Given the description of an element on the screen output the (x, y) to click on. 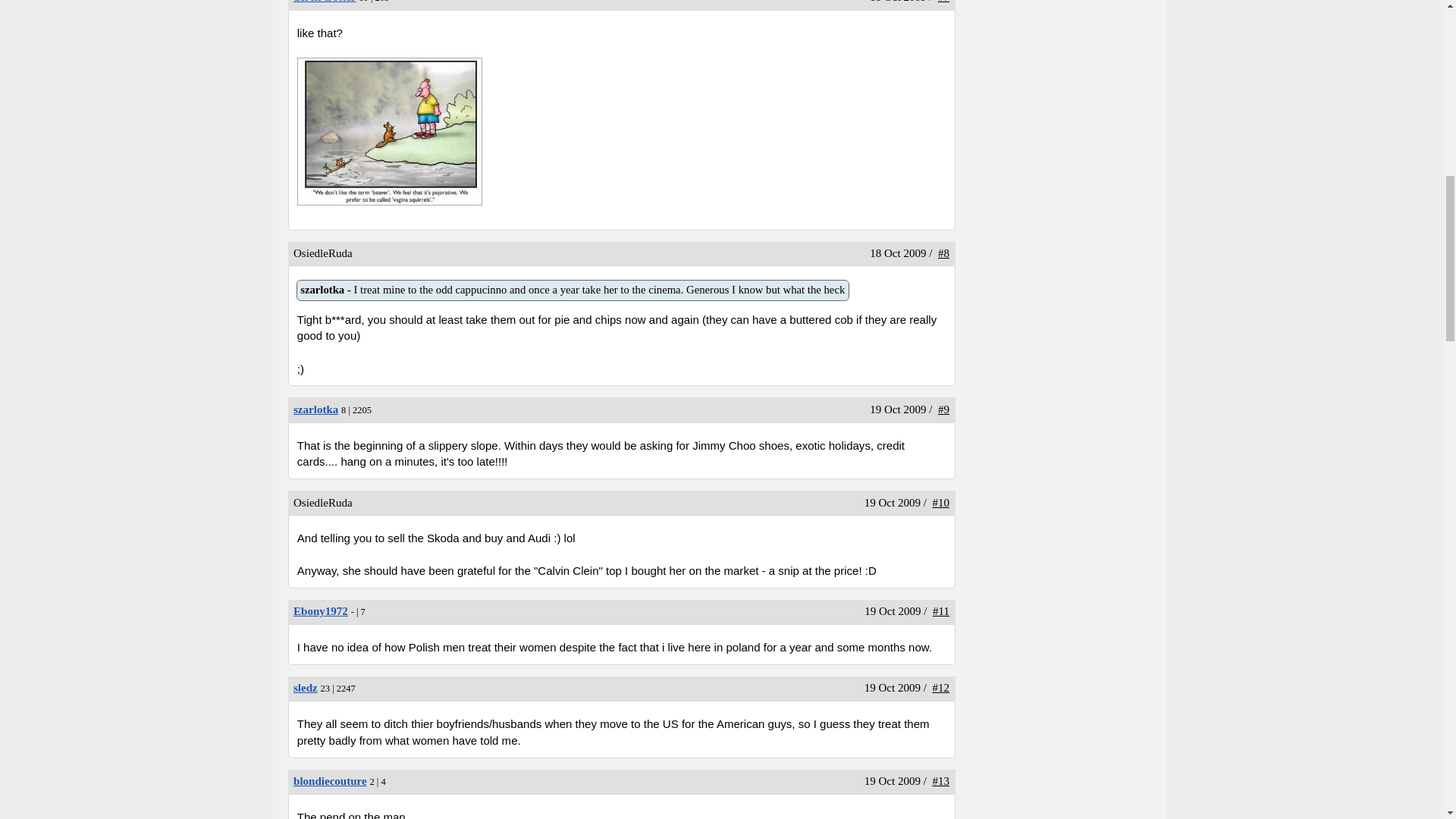
sledz (325, 1)
szarlotka (305, 687)
derek trotter (315, 409)
szarlotka (325, 1)
Ebony1972 (572, 290)
blondiecouture (320, 611)
